Given the description of an element on the screen output the (x, y) to click on. 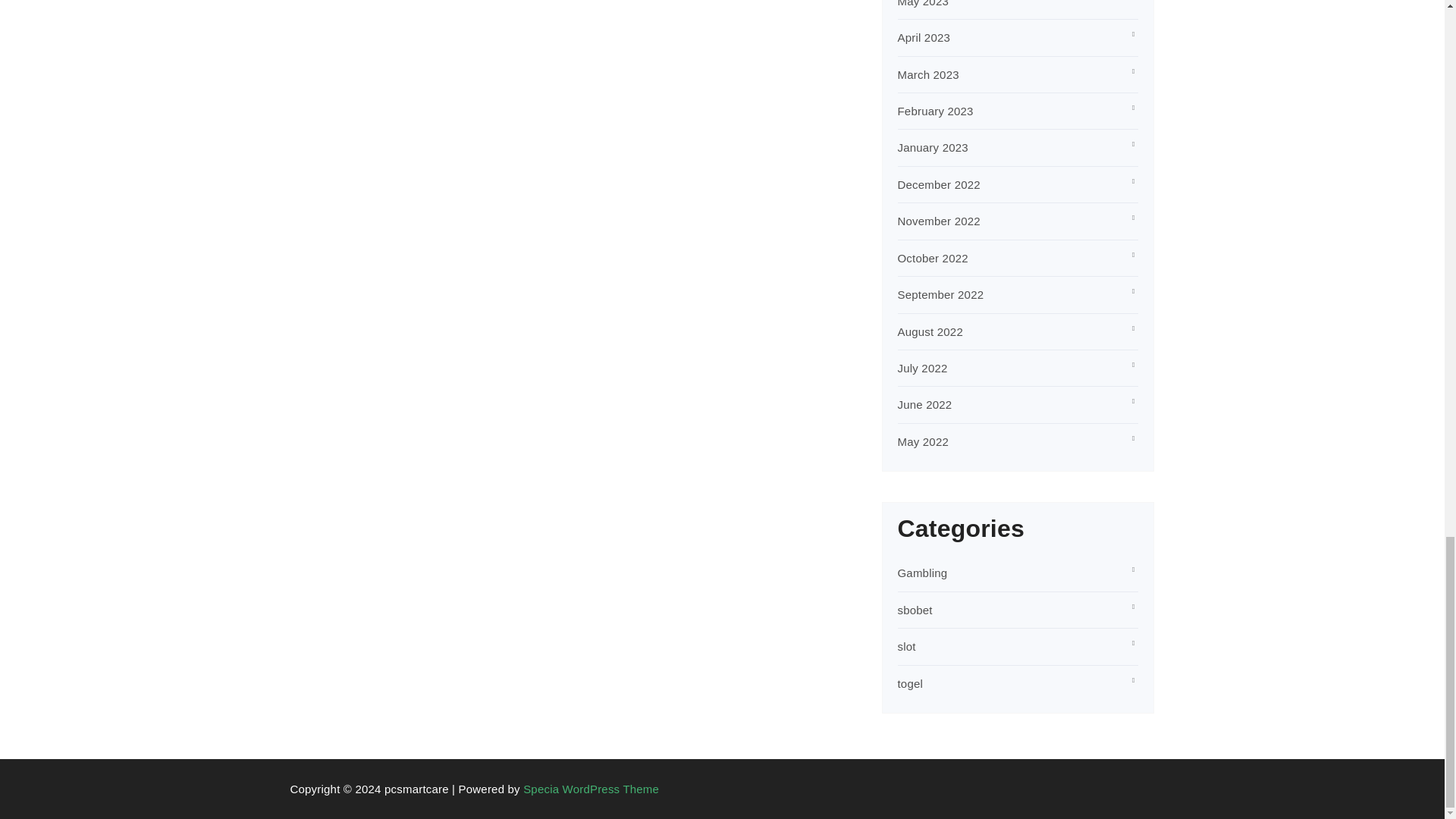
May 2023 (923, 3)
